Given the description of an element on the screen output the (x, y) to click on. 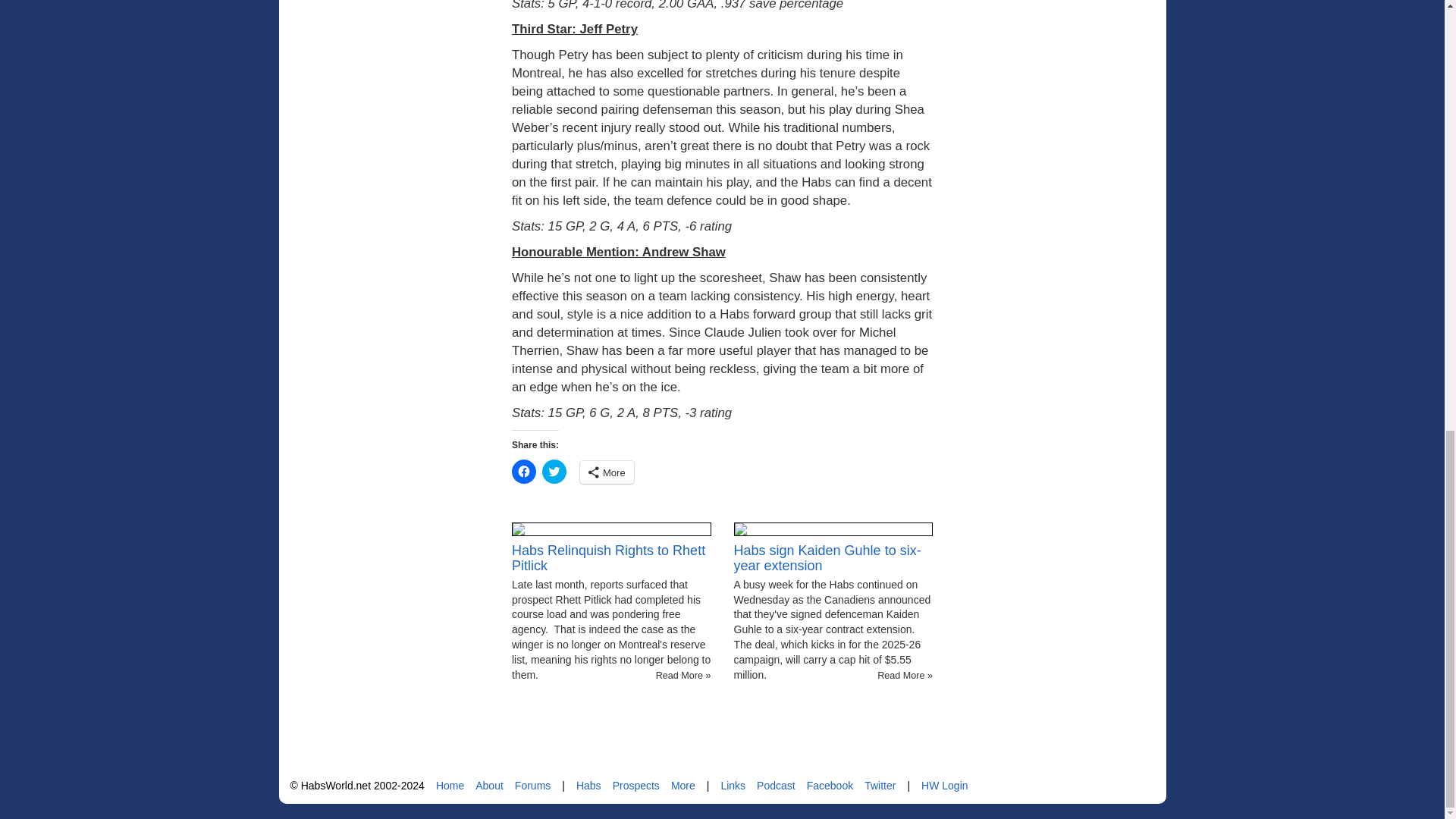
Facebook (829, 785)
More (683, 785)
Click to share on Facebook (523, 471)
Podcast (775, 785)
HW Login (944, 785)
About (489, 785)
Prospects (635, 785)
Click to share on Twitter (553, 471)
Habs (588, 785)
More (606, 472)
Home (449, 785)
Links (732, 785)
Twitter (879, 785)
Forums (532, 785)
